Given the description of an element on the screen output the (x, y) to click on. 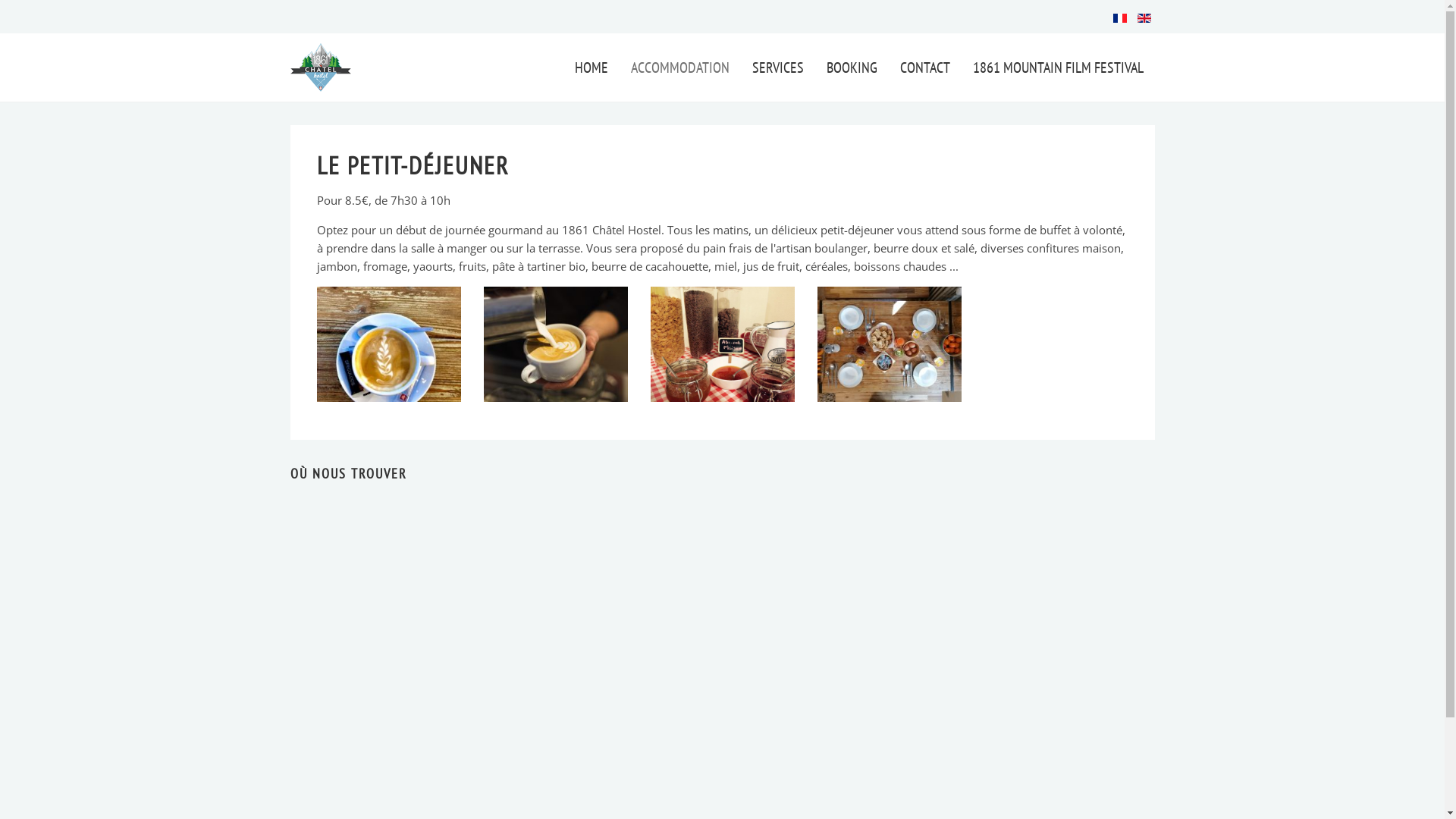
French (FR) Element type: hover (1119, 17)
ACCOMMODATION Element type: text (679, 67)
HOME Element type: text (590, 67)
BOOKING Element type: text (851, 67)
English (UK) Element type: hover (1144, 17)
1861 MOUNTAIN FILM FESTIVAL Element type: text (1057, 67)
CONTACT Element type: text (924, 67)
SERVICES Element type: text (777, 67)
